Given the description of an element on the screen output the (x, y) to click on. 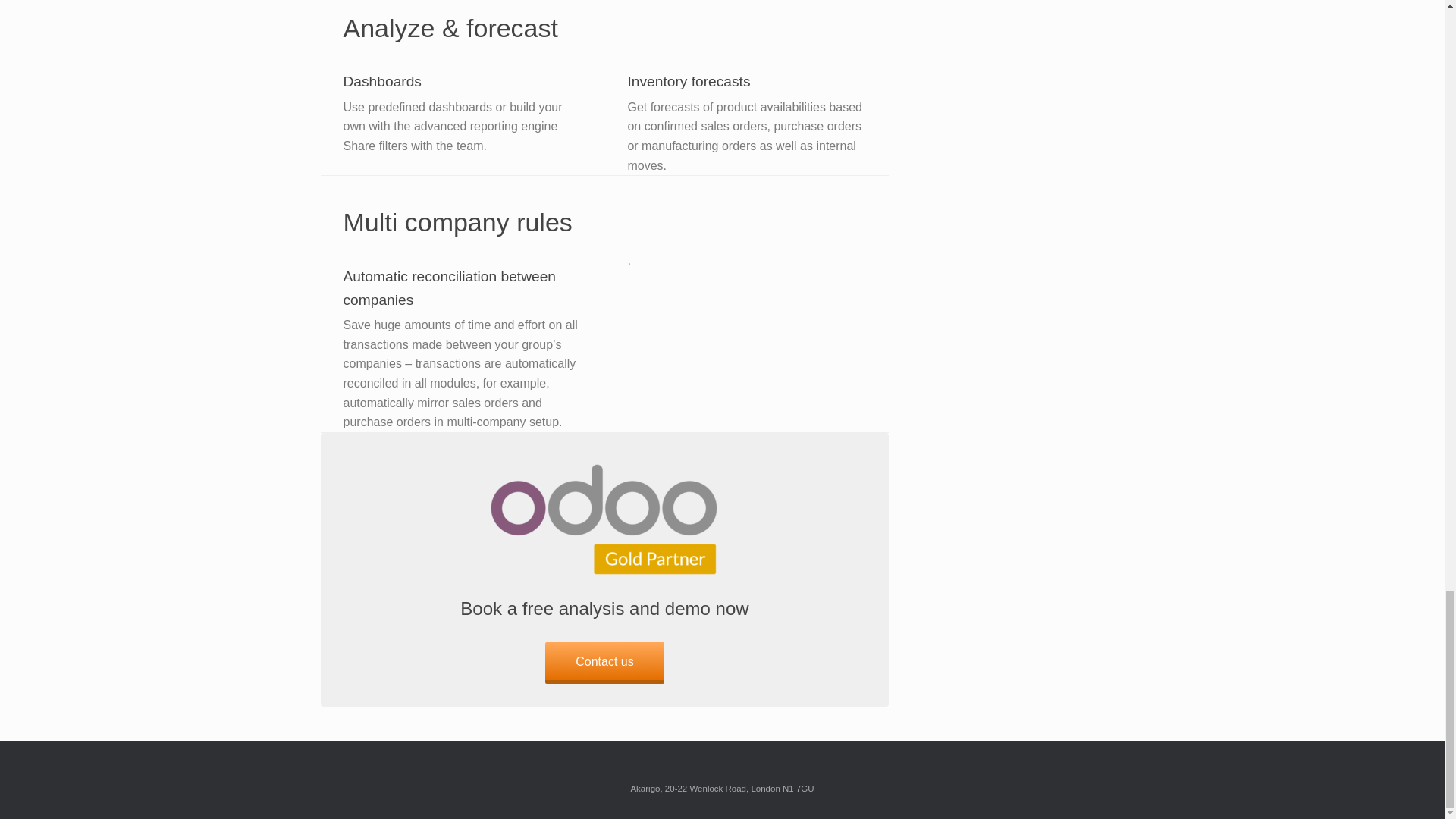
Contact us (603, 663)
